Given the description of an element on the screen output the (x, y) to click on. 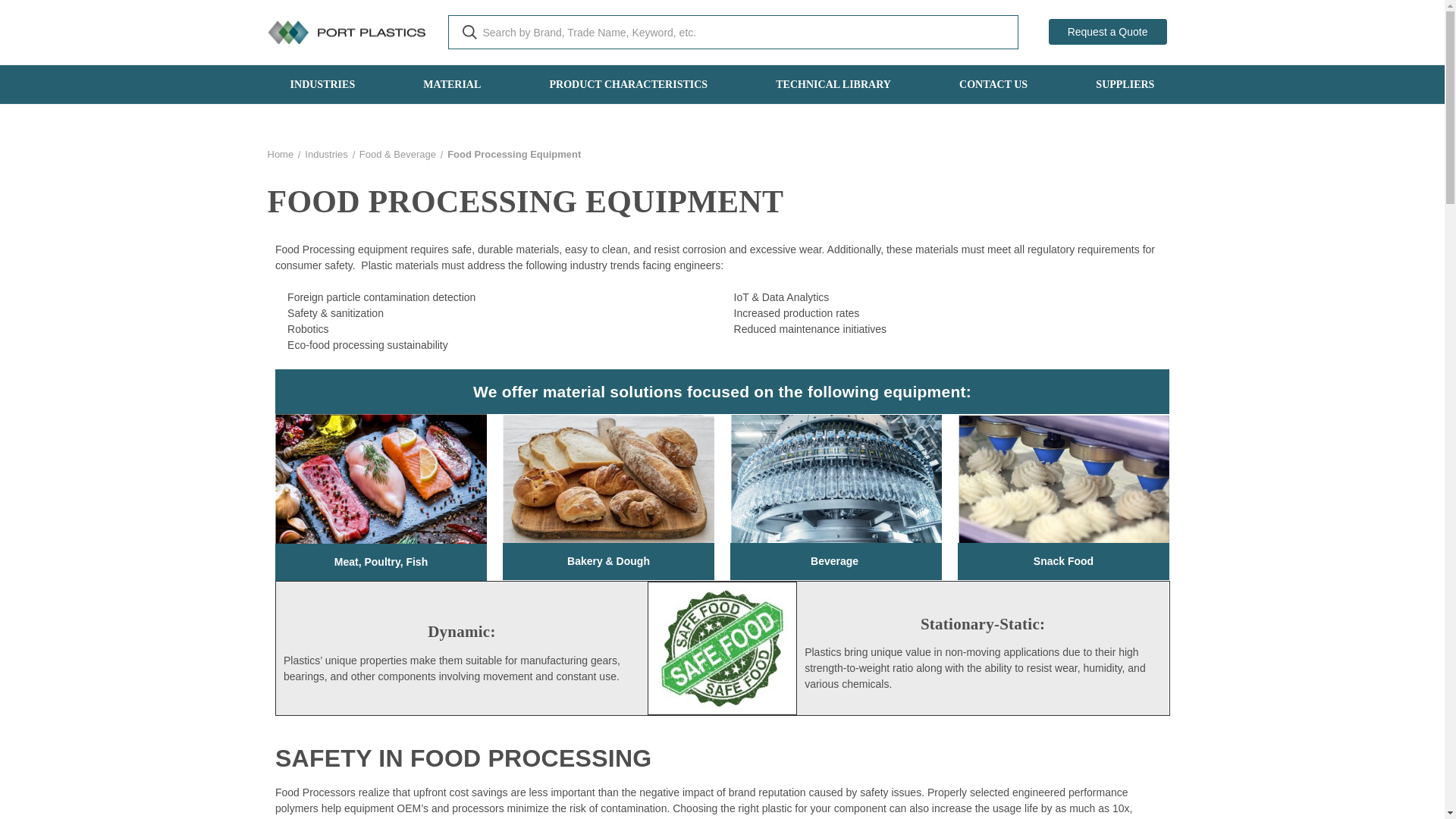
INDUSTRIES (323, 84)
Port Plastics (345, 32)
MATERIAL (451, 84)
Request a Quote (1107, 31)
